Given the description of an element on the screen output the (x, y) to click on. 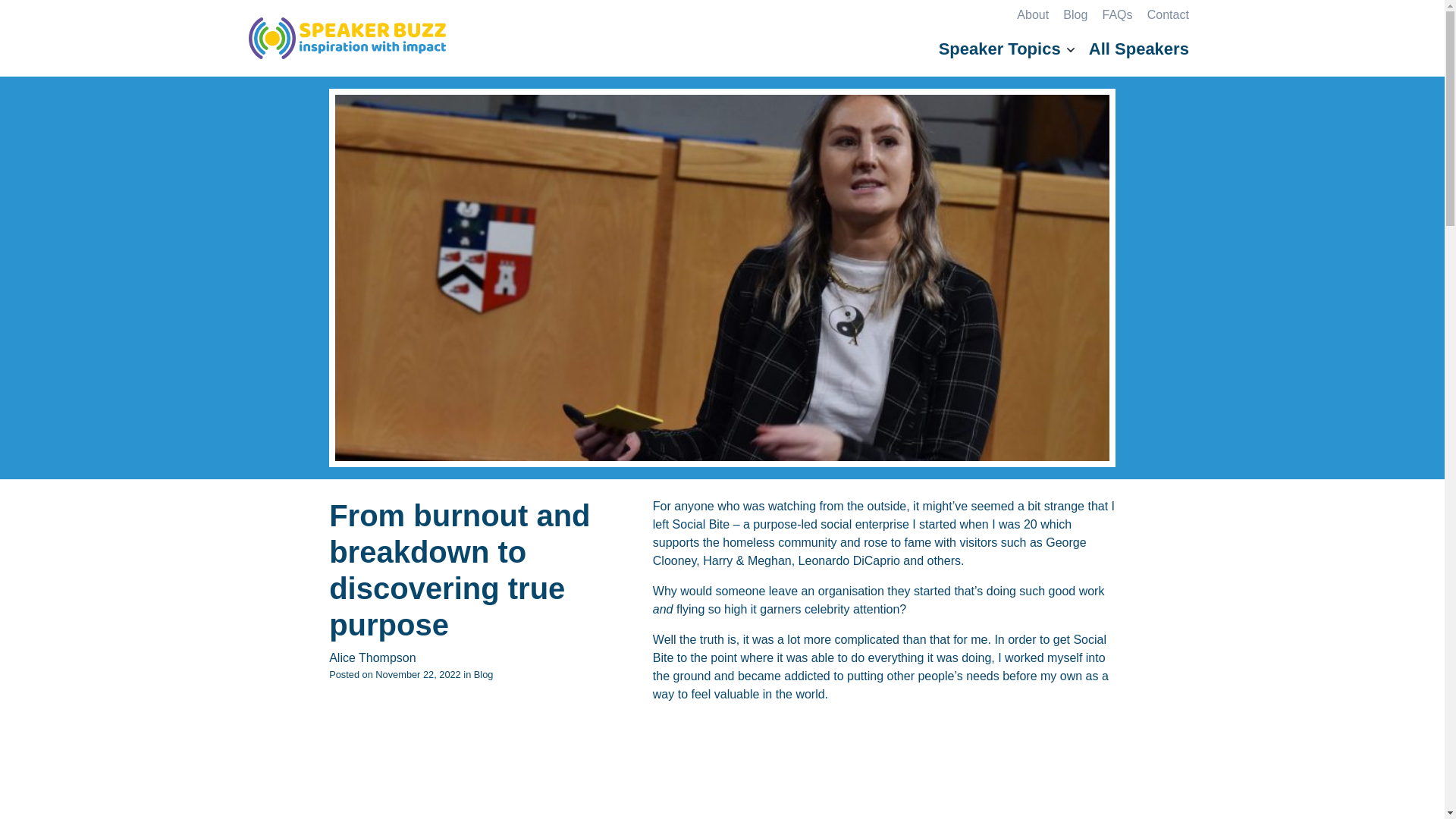
Contact (1168, 14)
About (1032, 14)
Speaker Topics (1006, 48)
FAQs (1117, 14)
Blog (1074, 14)
All Speakers (1139, 48)
